Given the description of an element on the screen output the (x, y) to click on. 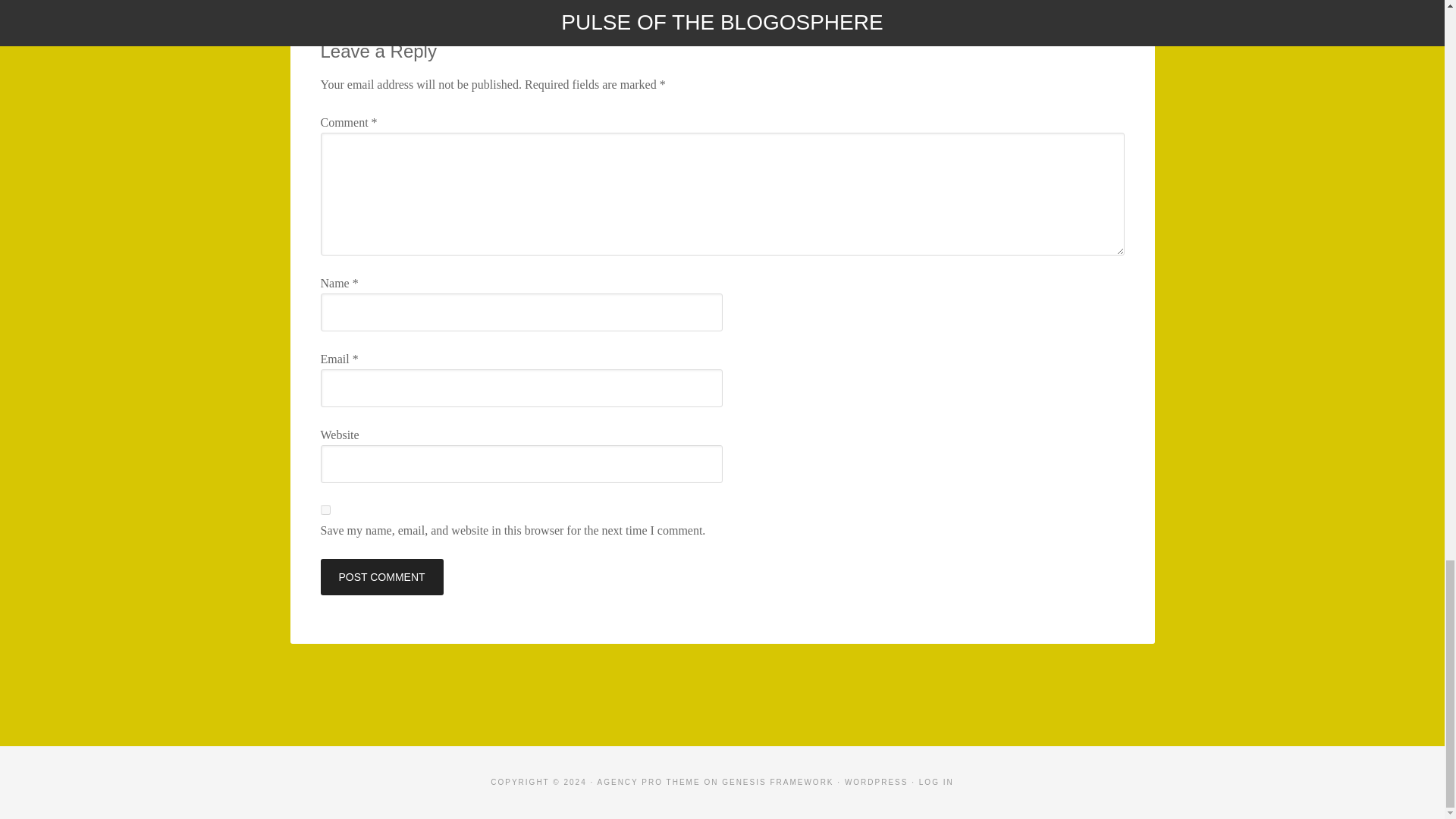
LOG IN (935, 782)
yes (325, 510)
Post Comment (381, 576)
AGENCY PRO THEME (648, 782)
Post Comment (381, 576)
WORDPRESS (876, 782)
GENESIS FRAMEWORK (777, 782)
